Given the description of an element on the screen output the (x, y) to click on. 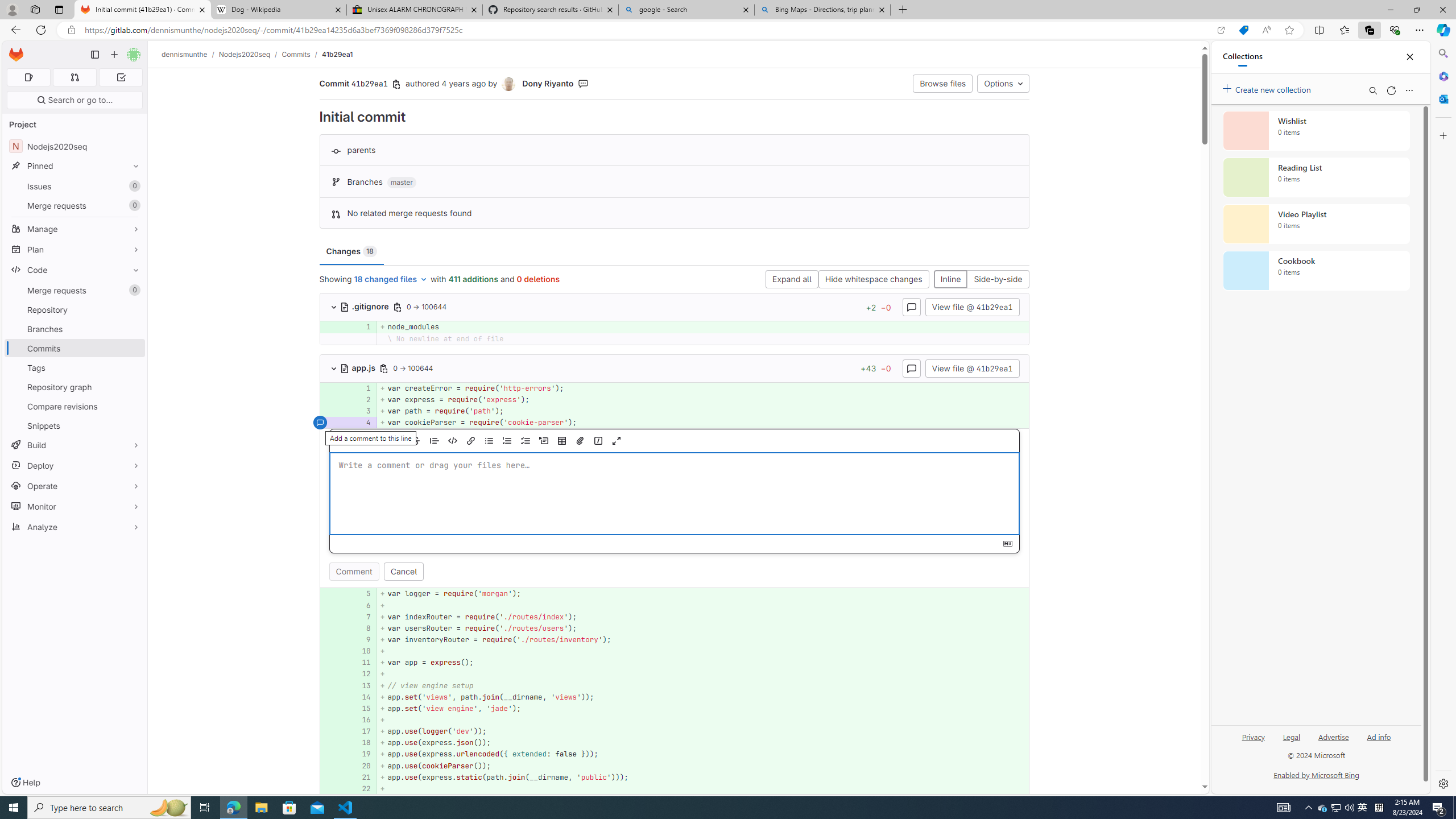
AutomationID: 4a68969ef8e858229267b842dedf42ab5dde4d50_0_1 (674, 387)
AutomationID: 4a68969ef8e858229267b842dedf42ab5dde4d50_0_19 (674, 754)
Add italic text (Ctrl+I) (397, 440)
Commits/ (301, 53)
+ var inventoryRouter = require('./routes/inventory');  (703, 639)
Code (74, 269)
Class: s16 (344, 368)
Commits (295, 53)
Repository graph (74, 386)
